Given the description of an element on the screen output the (x, y) to click on. 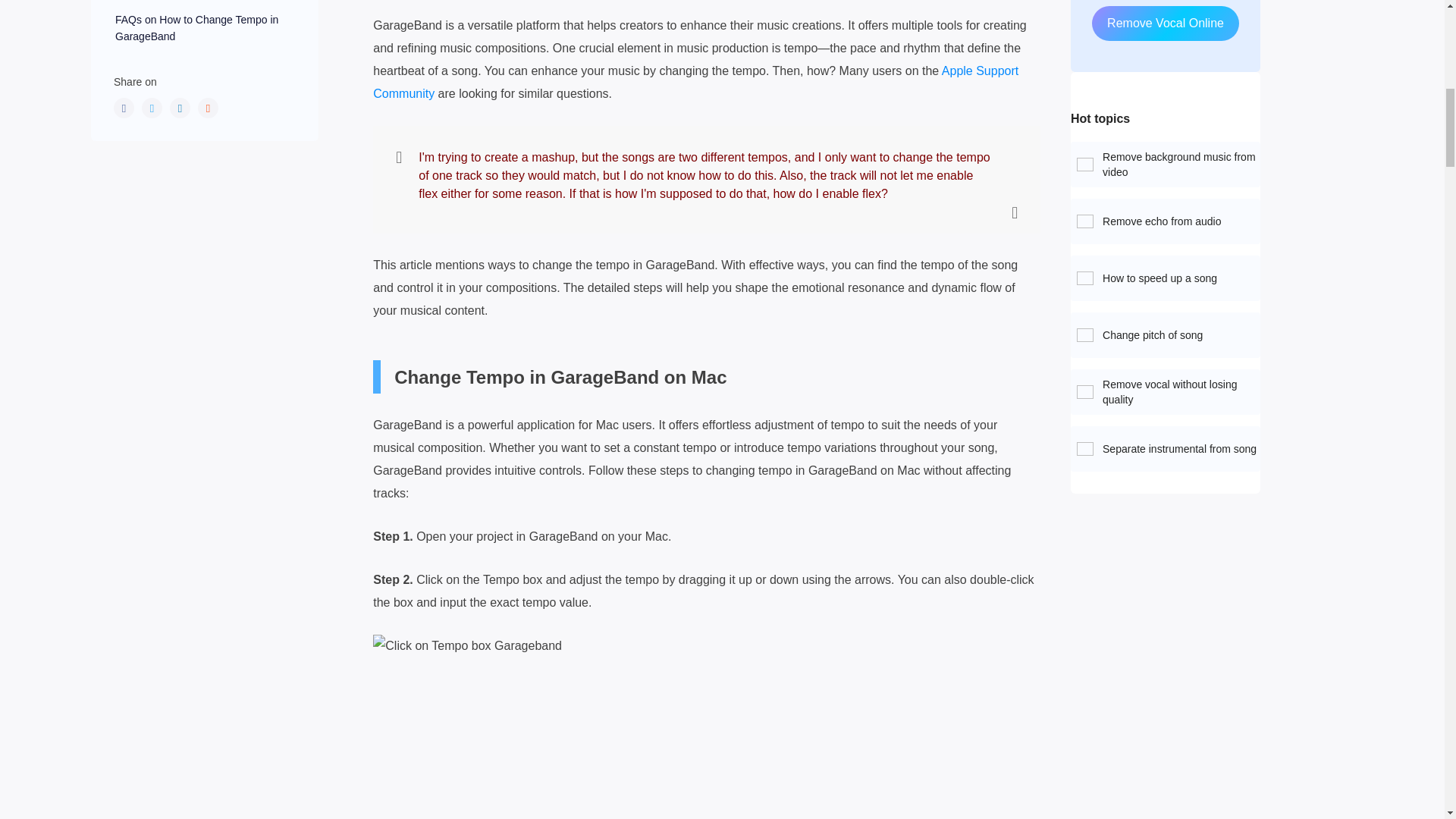
Apple Support Community (694, 81)
